Given the description of an element on the screen output the (x, y) to click on. 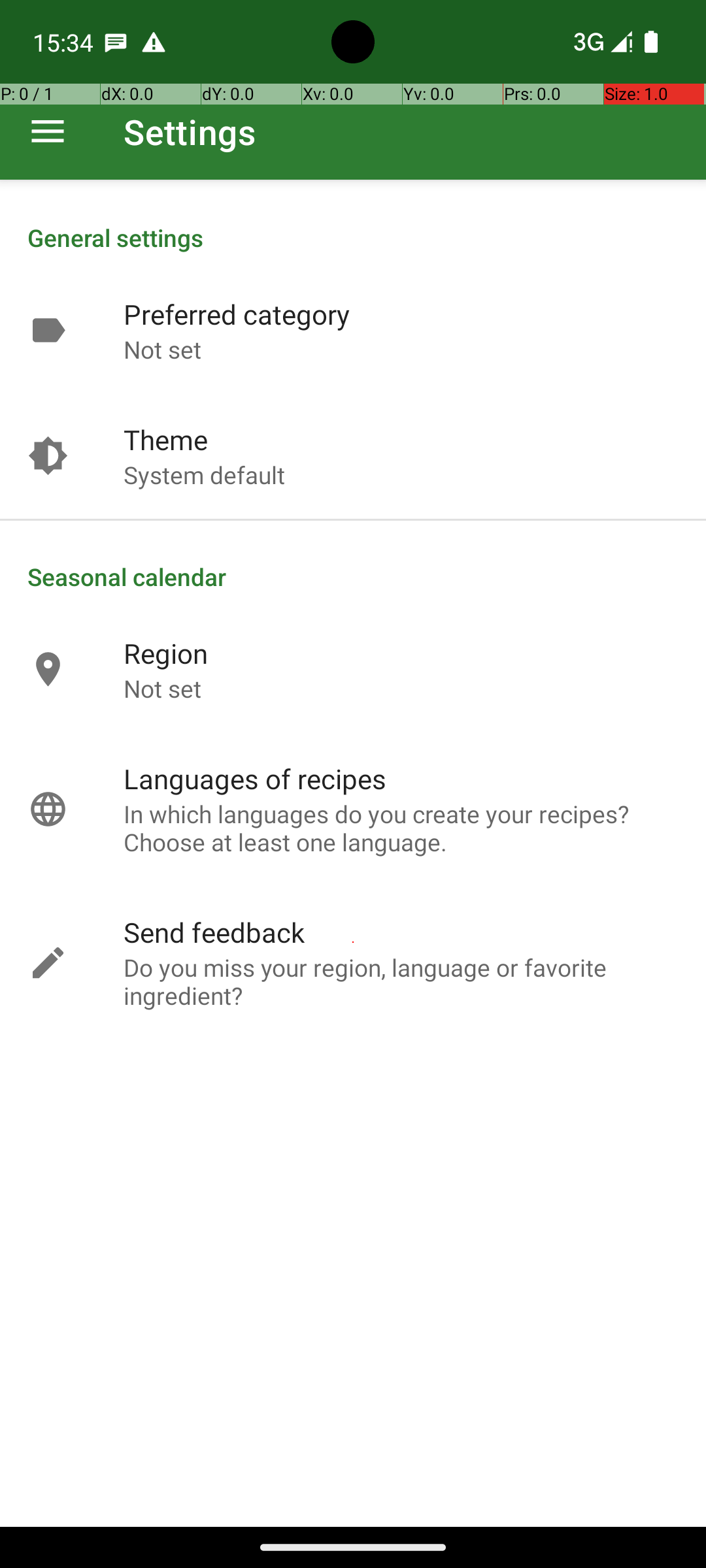
General settings Element type: android.widget.TextView (352, 237)
Preferred category Element type: android.widget.TextView (236, 313)
Not set Element type: android.widget.TextView (162, 348)
Theme Element type: android.widget.TextView (165, 438)
System default Element type: android.widget.TextView (204, 474)
Seasonal calendar Element type: android.widget.TextView (352, 576)
Region Element type: android.widget.TextView (165, 652)
Languages of recipes Element type: android.widget.TextView (254, 778)
In which languages do you create your recipes? Choose at least one language. Element type: android.widget.TextView (400, 827)
Send feedback Element type: android.widget.TextView (213, 931)
Do you miss your region, language or favorite ingredient? Element type: android.widget.TextView (400, 981)
